Given the description of an element on the screen output the (x, y) to click on. 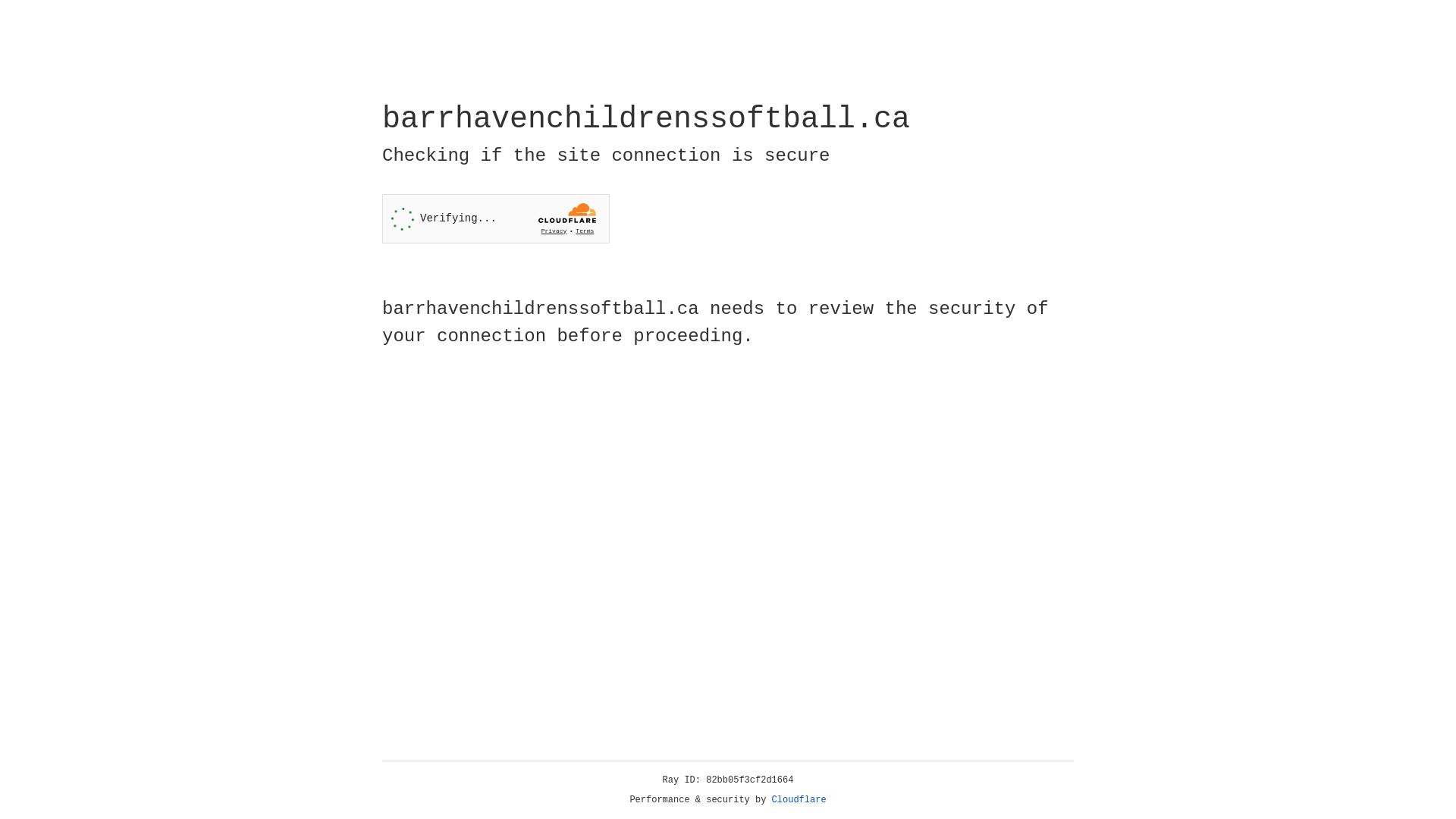
Widget containing a Cloudflare security challenge Element type: hover (495, 218)
Cloudflare Element type: text (798, 799)
